Given the description of an element on the screen output the (x, y) to click on. 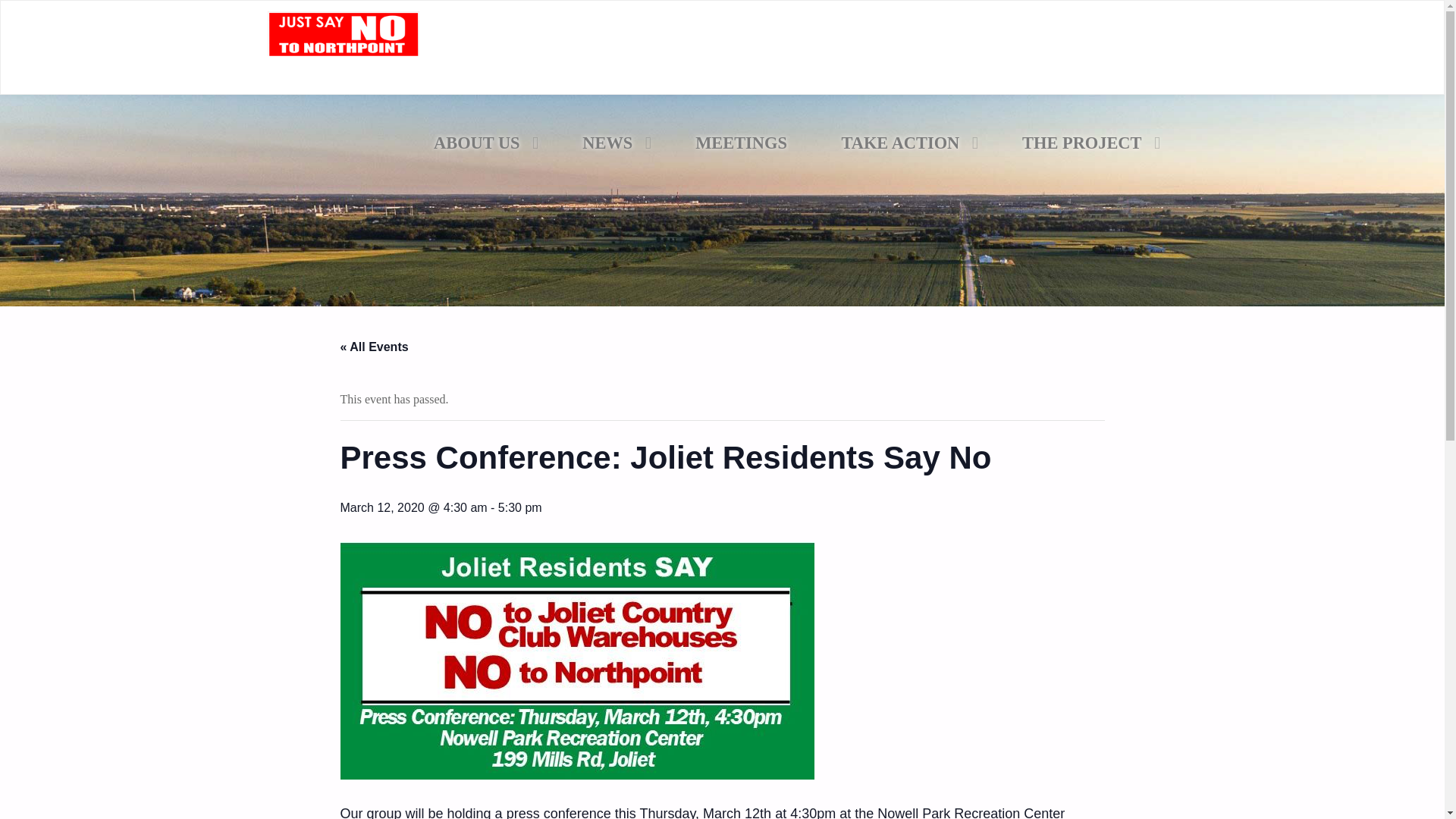
TAKE ACTION (904, 142)
Just Say No To NorthPoint (342, 47)
JUST SAY NO TO NORTHPOINT (512, 67)
ABOUT US (480, 142)
THE PROJECT (1085, 142)
NEWS (612, 142)
Join us in the fight to save our community from destruction. (512, 67)
MEETINGS (740, 142)
